Given the description of an element on the screen output the (x, y) to click on. 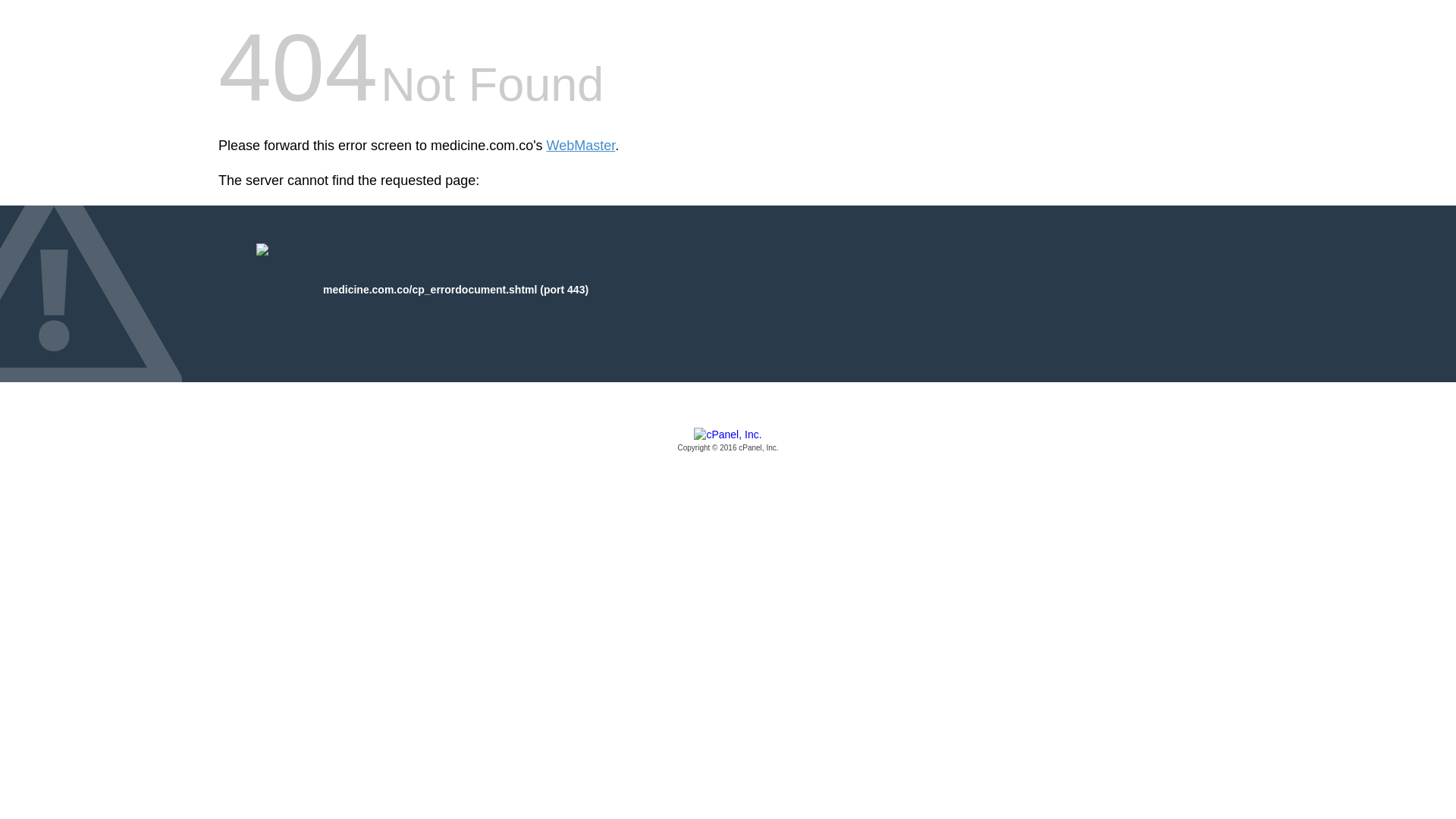
WebMaster (581, 145)
cPanel, Inc. (727, 440)
